Given the description of an element on the screen output the (x, y) to click on. 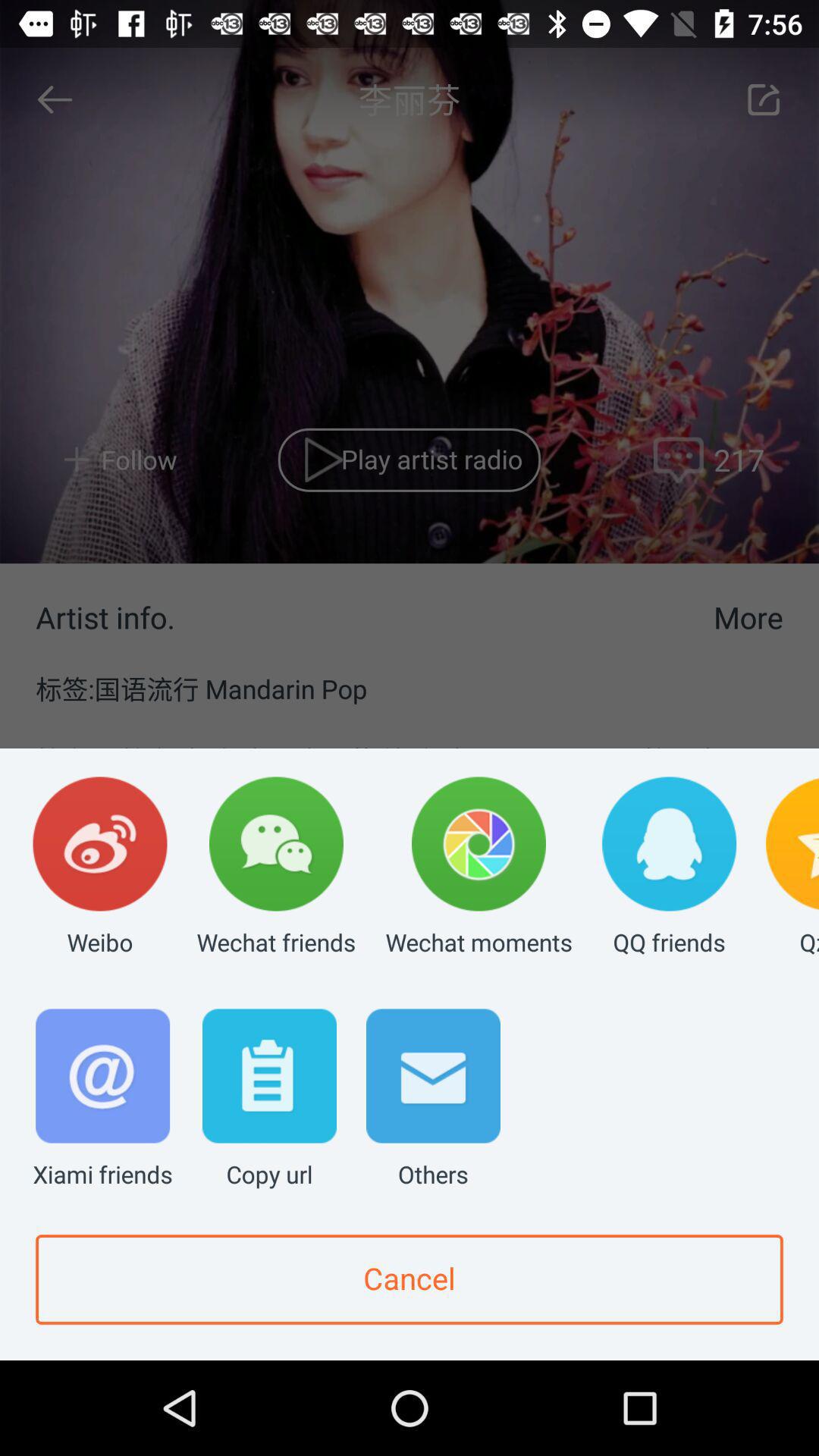
select the icon to the left of the wechat moments item (276, 867)
